Given the description of an element on the screen output the (x, y) to click on. 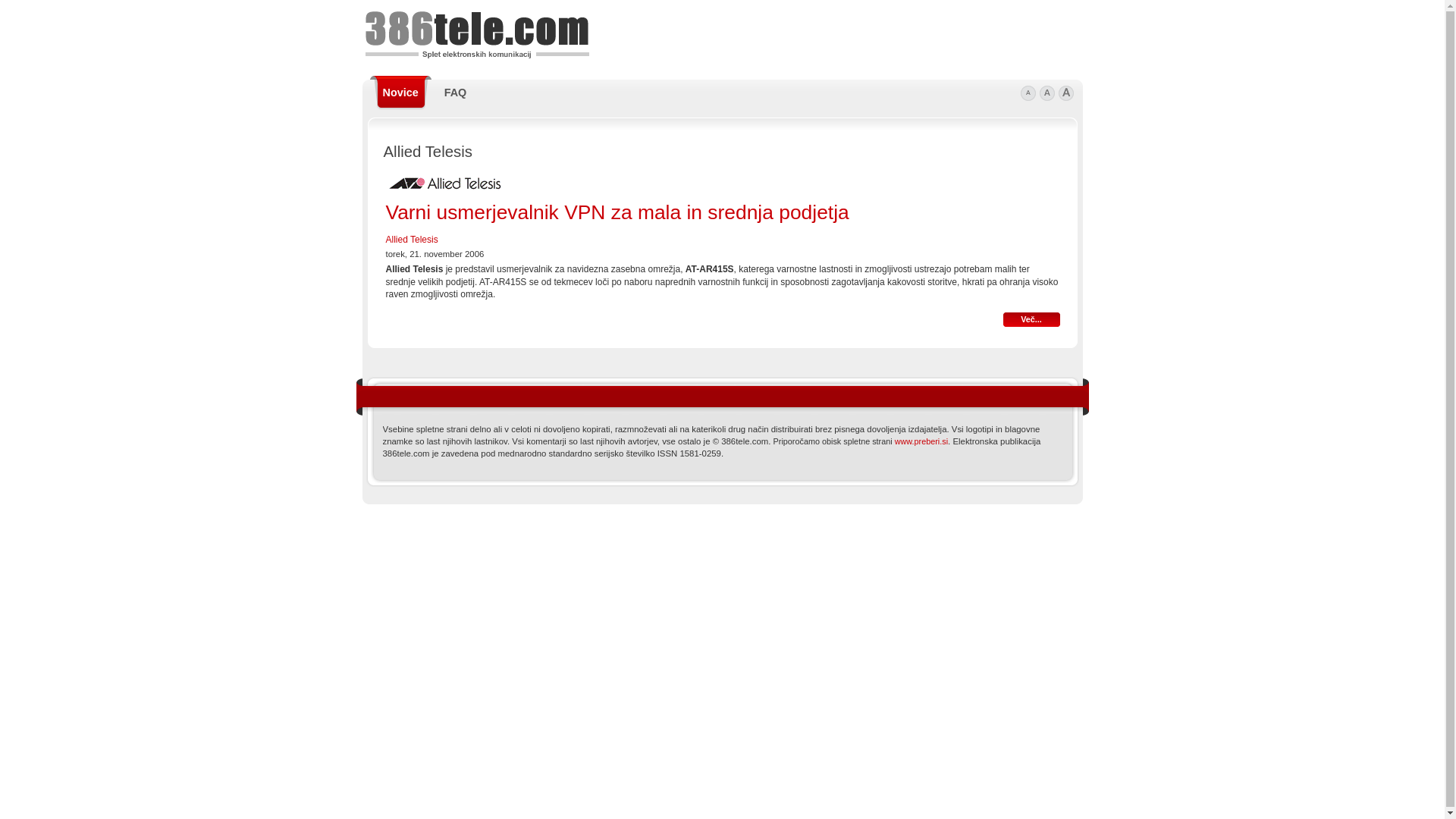
Varni usmerjevalnik VPN za mala in srednja podjetja Element type: text (616, 211)
FAQ Element type: text (455, 92)
Allied Telesis Element type: text (411, 239)
www.preberi.si Element type: text (920, 440)
Novice Element type: text (400, 92)
